Given the description of an element on the screen output the (x, y) to click on. 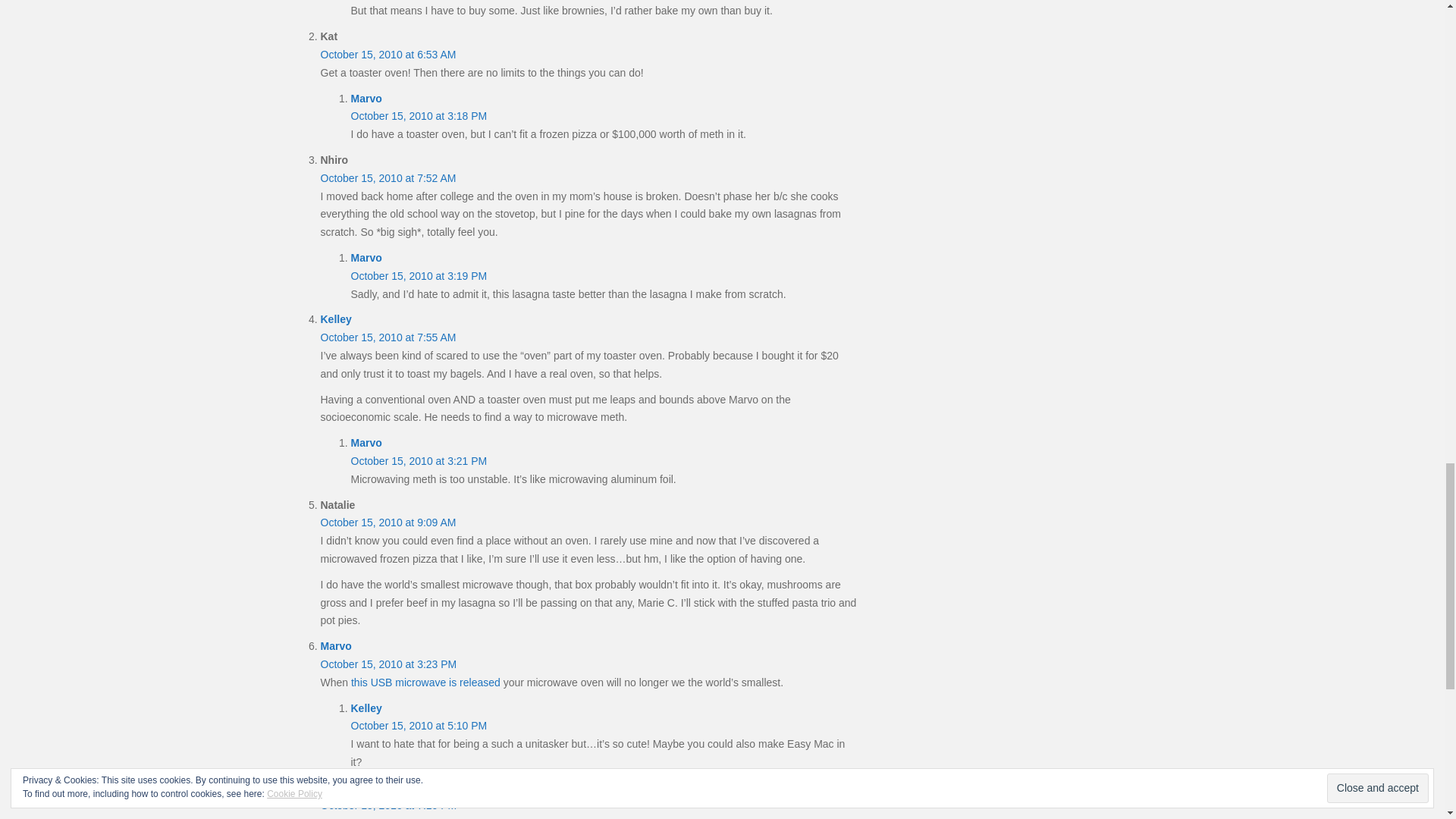
Marvo (365, 257)
October 15, 2010 at 3:21 PM (418, 460)
October 15, 2010 at 9:09 AM (387, 522)
October 15, 2010 at 3:18 PM (418, 115)
Kelley (365, 707)
October 15, 2010 at 6:53 AM (387, 54)
this USB microwave is released (425, 682)
October 15, 2010 at 7:52 AM (387, 177)
October 15, 2010 at 7:55 AM (387, 337)
October 15, 2010 at 3:19 PM (418, 275)
